Given the description of an element on the screen output the (x, y) to click on. 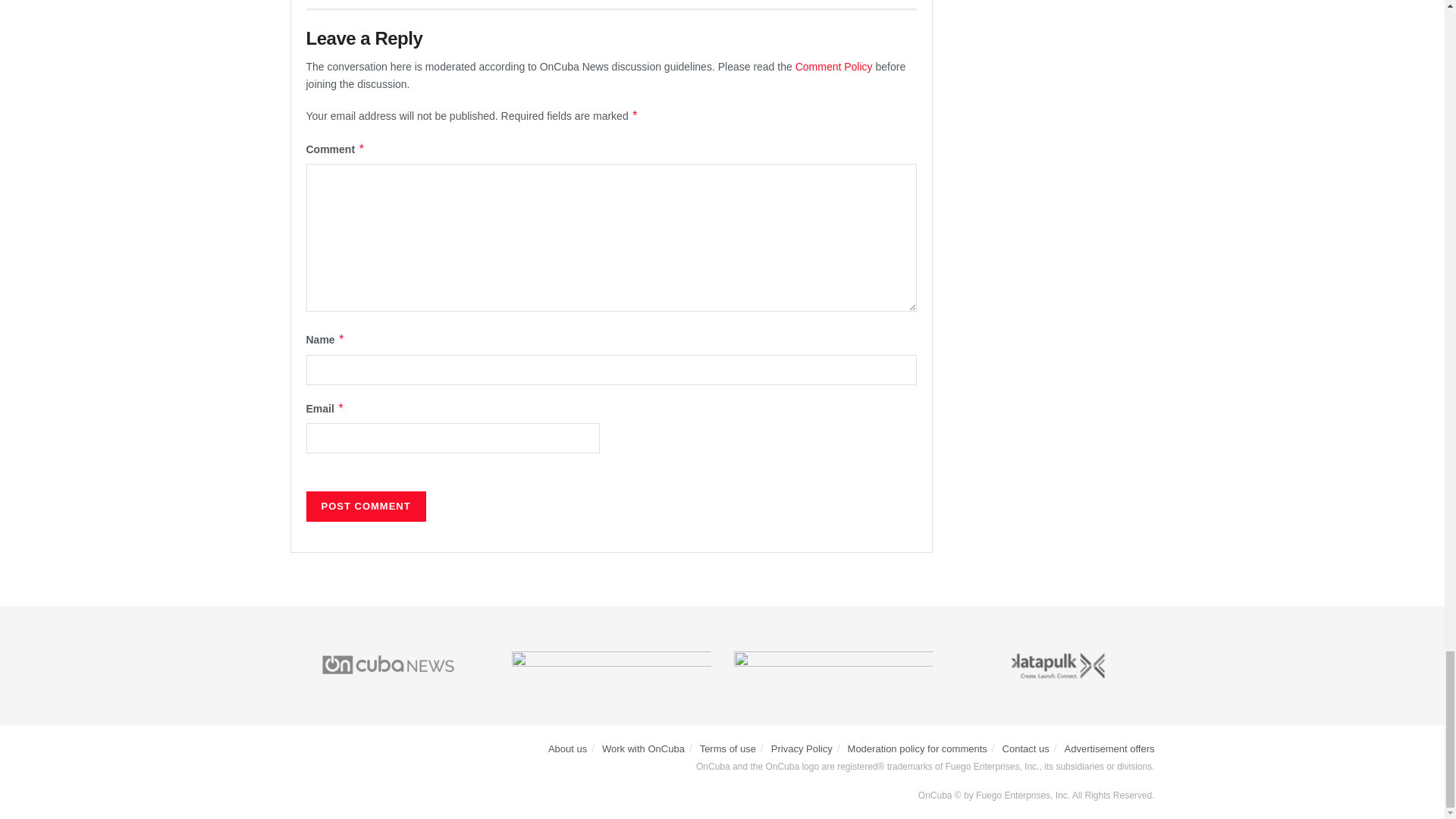
Post Comment (365, 506)
